Given the description of an element on the screen output the (x, y) to click on. 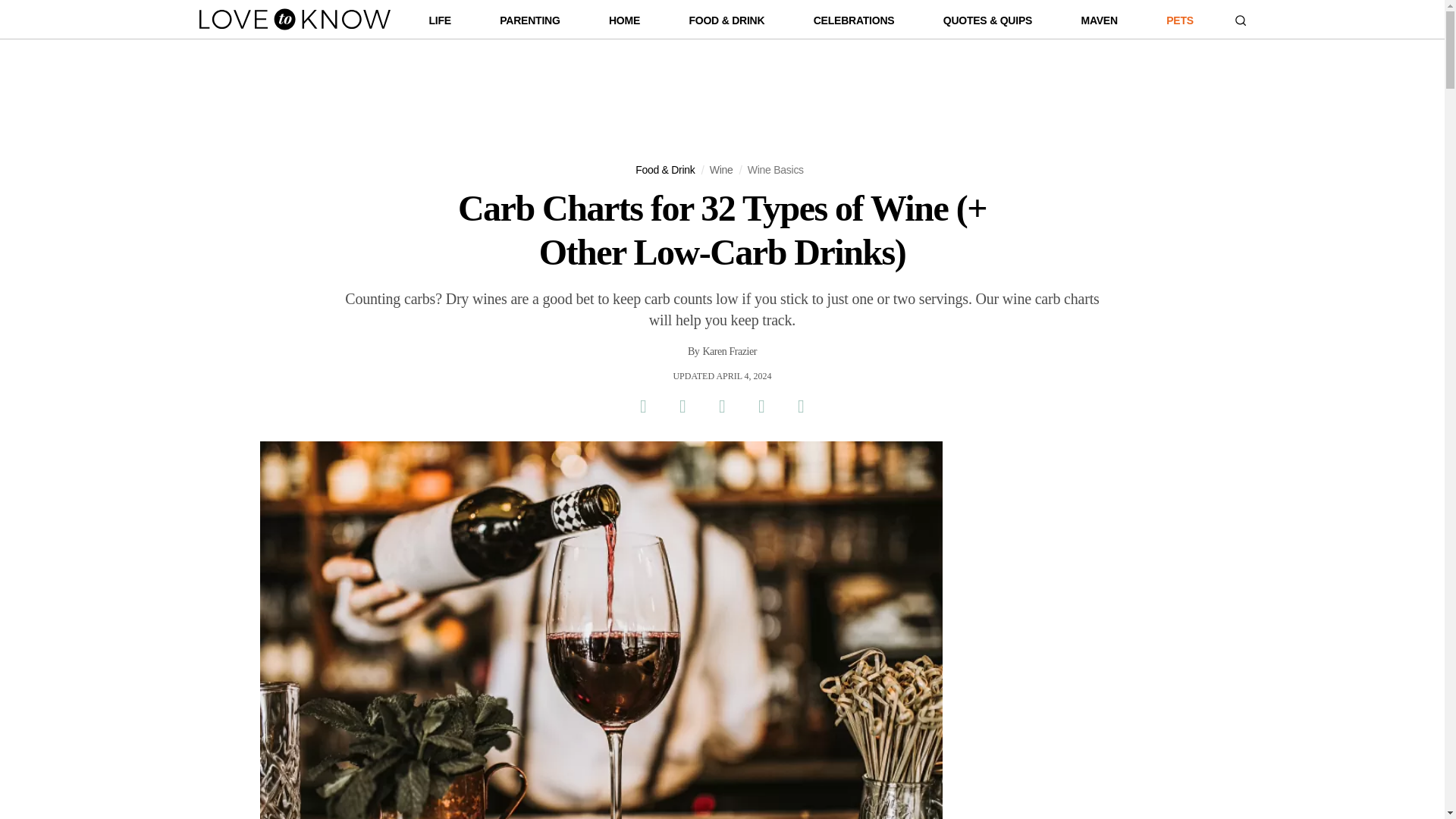
Share on Facebook (642, 405)
HOME (624, 23)
Share via Email (760, 405)
PARENTING (529, 23)
LIFE (439, 23)
Copy Link (800, 405)
Share on Pinterest (721, 405)
Share on Twitter (681, 405)
Karen Frazier (729, 352)
